Given the description of an element on the screen output the (x, y) to click on. 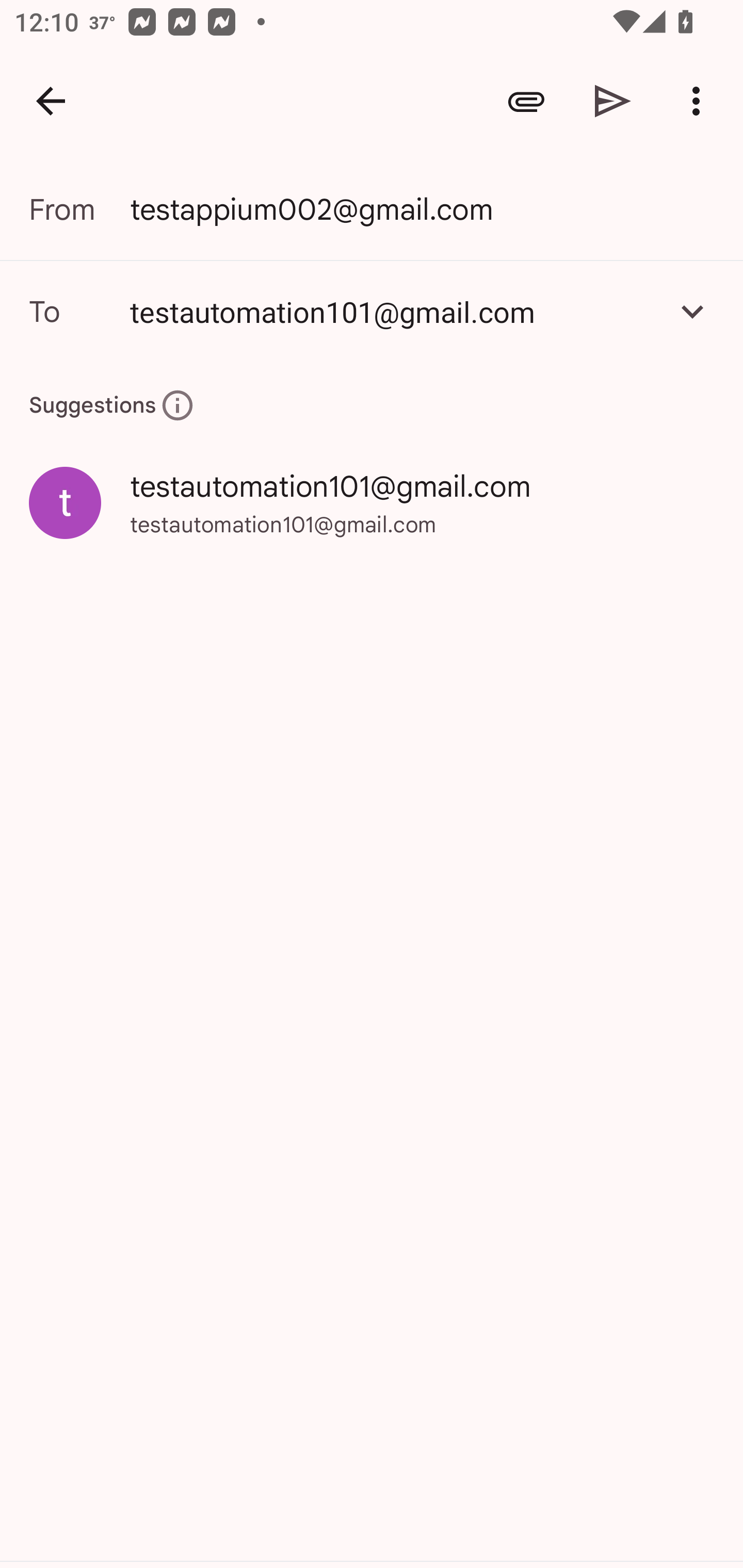
Navigate up (50, 101)
Attach file (525, 101)
Send (612, 101)
More options (699, 101)
From (79, 209)
Add Cc/Bcc (692, 311)
testautomation101@gmail.com (371, 311)
testautomation101@gmail.com (393, 311)
